Given the description of an element on the screen output the (x, y) to click on. 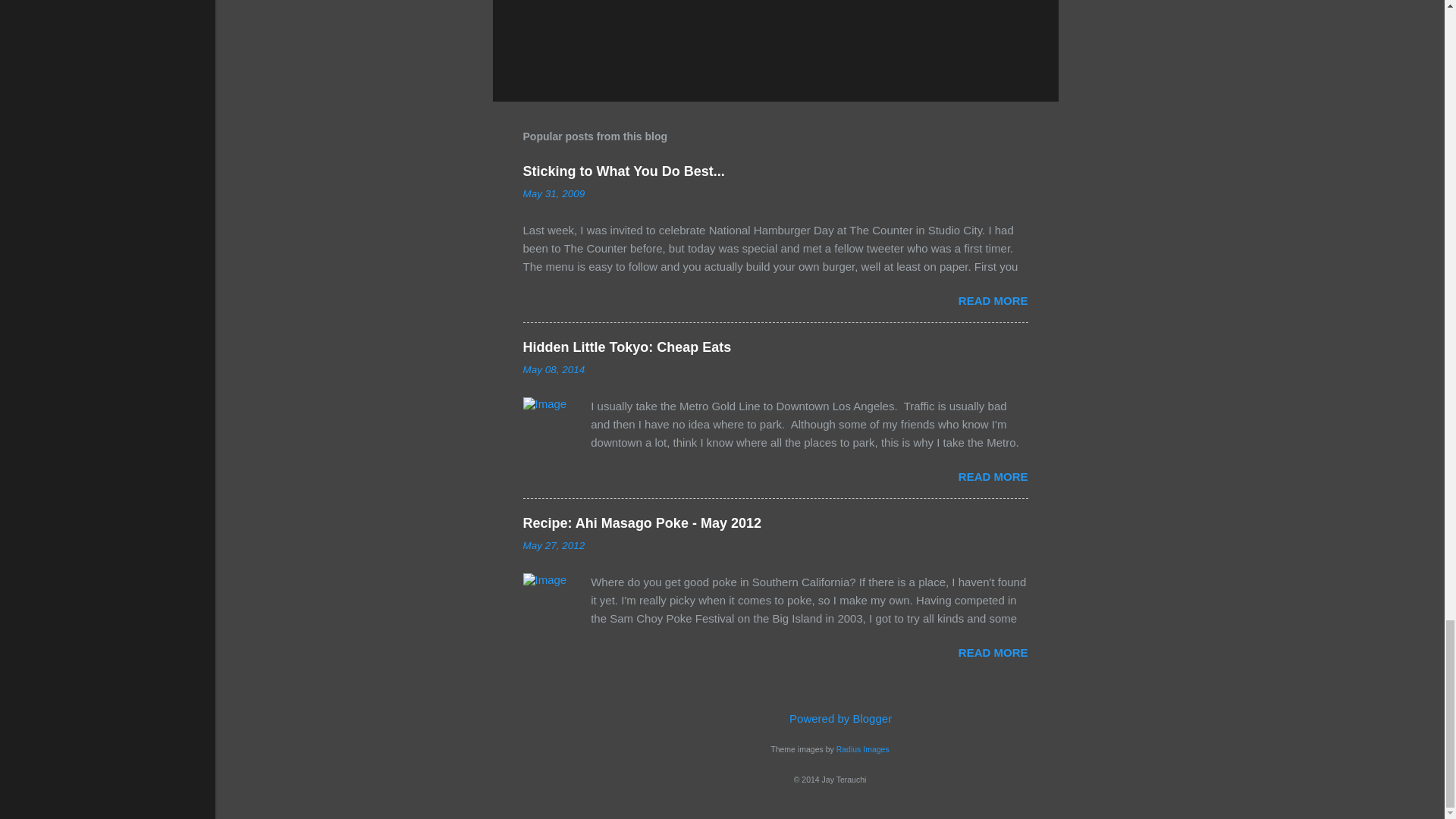
May 31, 2009 (553, 193)
Sticking to What You Do Best... (623, 171)
Hidden Little Tokyo: Cheap Eats (627, 346)
READ MORE (992, 300)
